Given the description of an element on the screen output the (x, y) to click on. 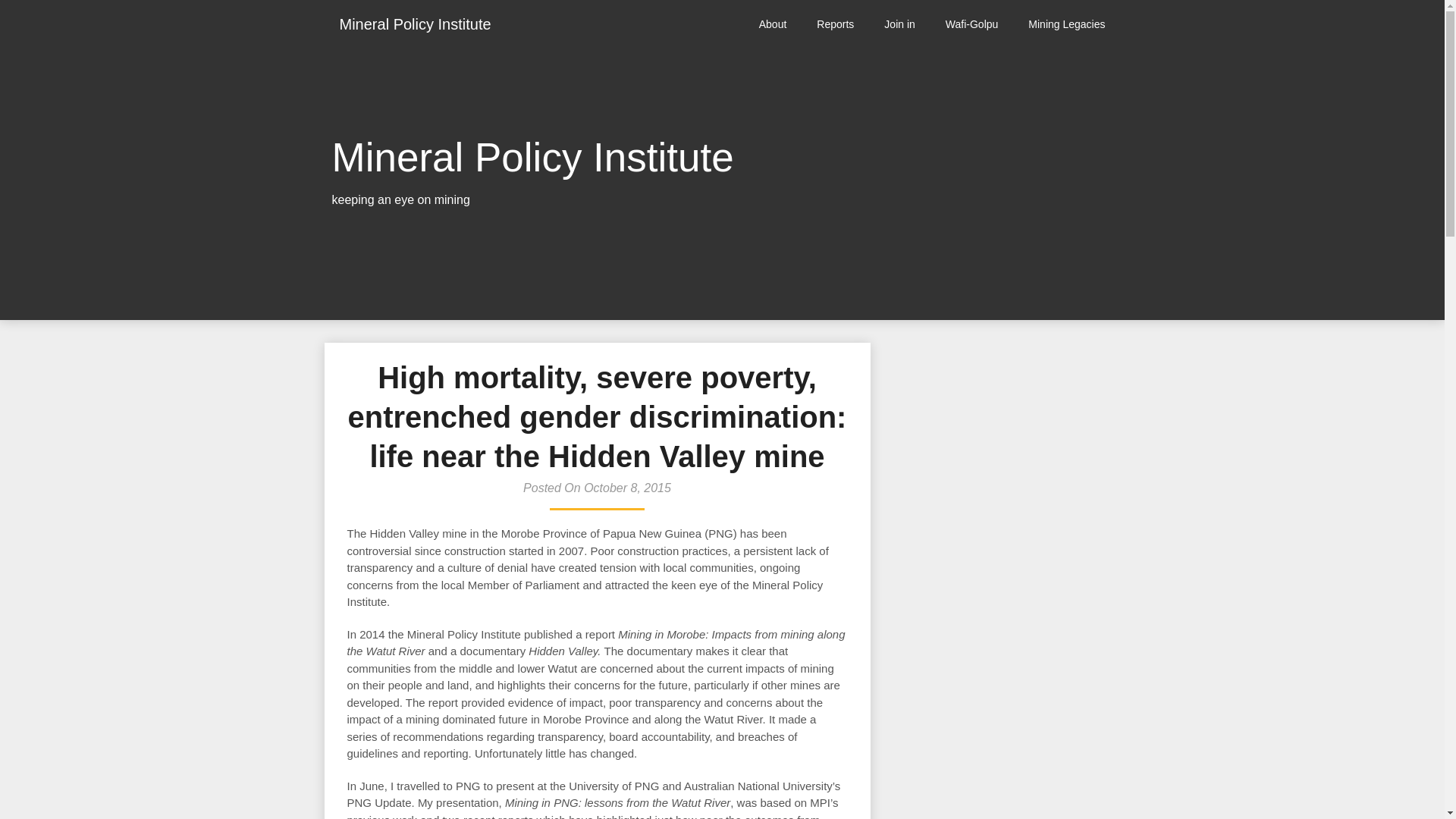
Reports (835, 24)
Mineral Policy Institute (415, 24)
Wafi-Golpu (971, 24)
Mining Legacies (1066, 24)
Join in (899, 24)
